Given the description of an element on the screen output the (x, y) to click on. 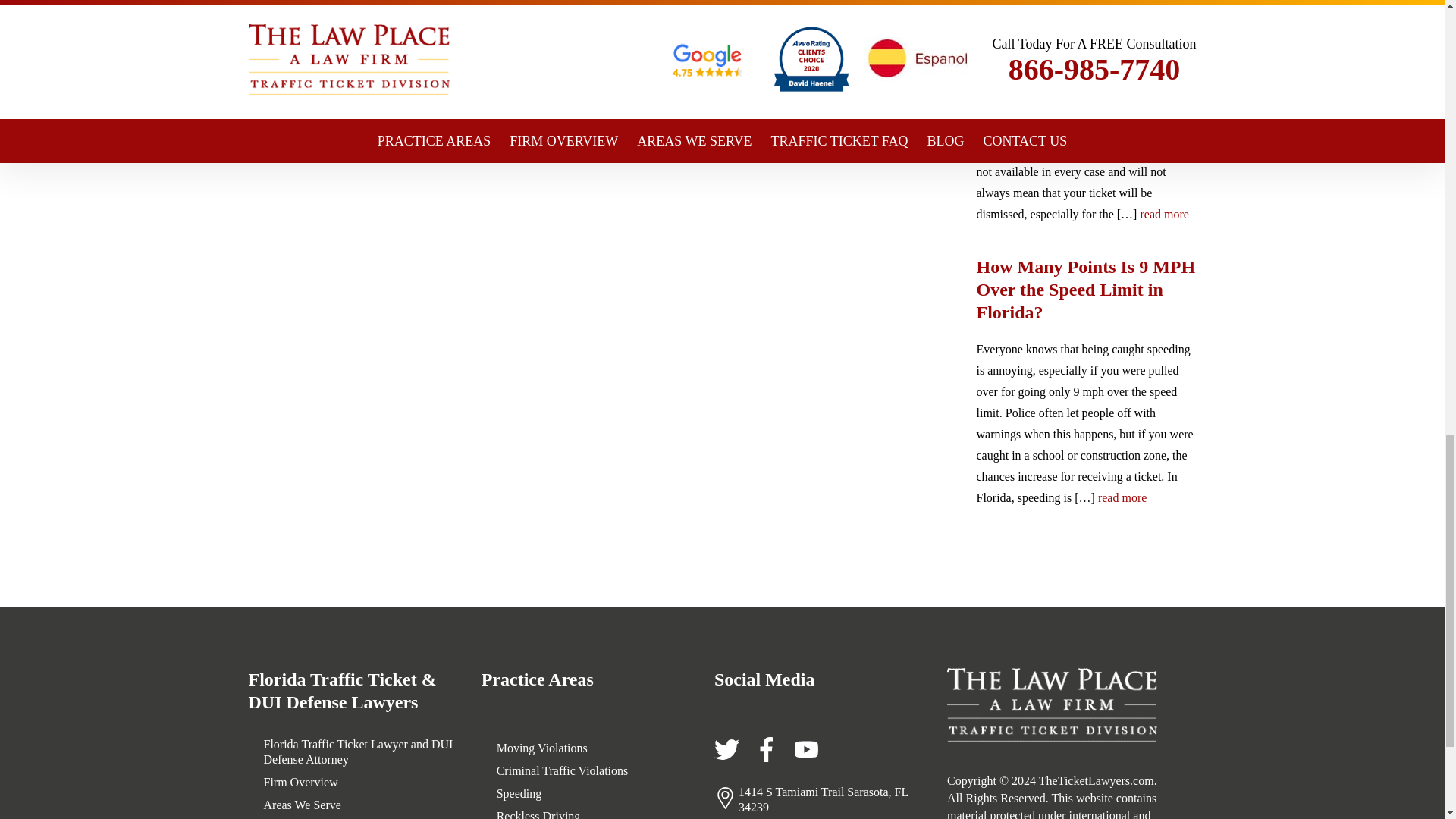
Areas We Serve (301, 805)
read more (1122, 497)
Speeding (518, 793)
read more (1164, 214)
Does Traffic School Dismiss Ticket in FL? (1086, 20)
How Many Points Is 9 MPH Over the Speed Limit in Florida? (1086, 289)
Florida Traffic Ticket Lawyer and DUI Defense Attorney (360, 752)
Moving Violations (542, 748)
Firm Overview (300, 782)
Criminal Traffic Violations (562, 770)
